Given the description of an element on the screen output the (x, y) to click on. 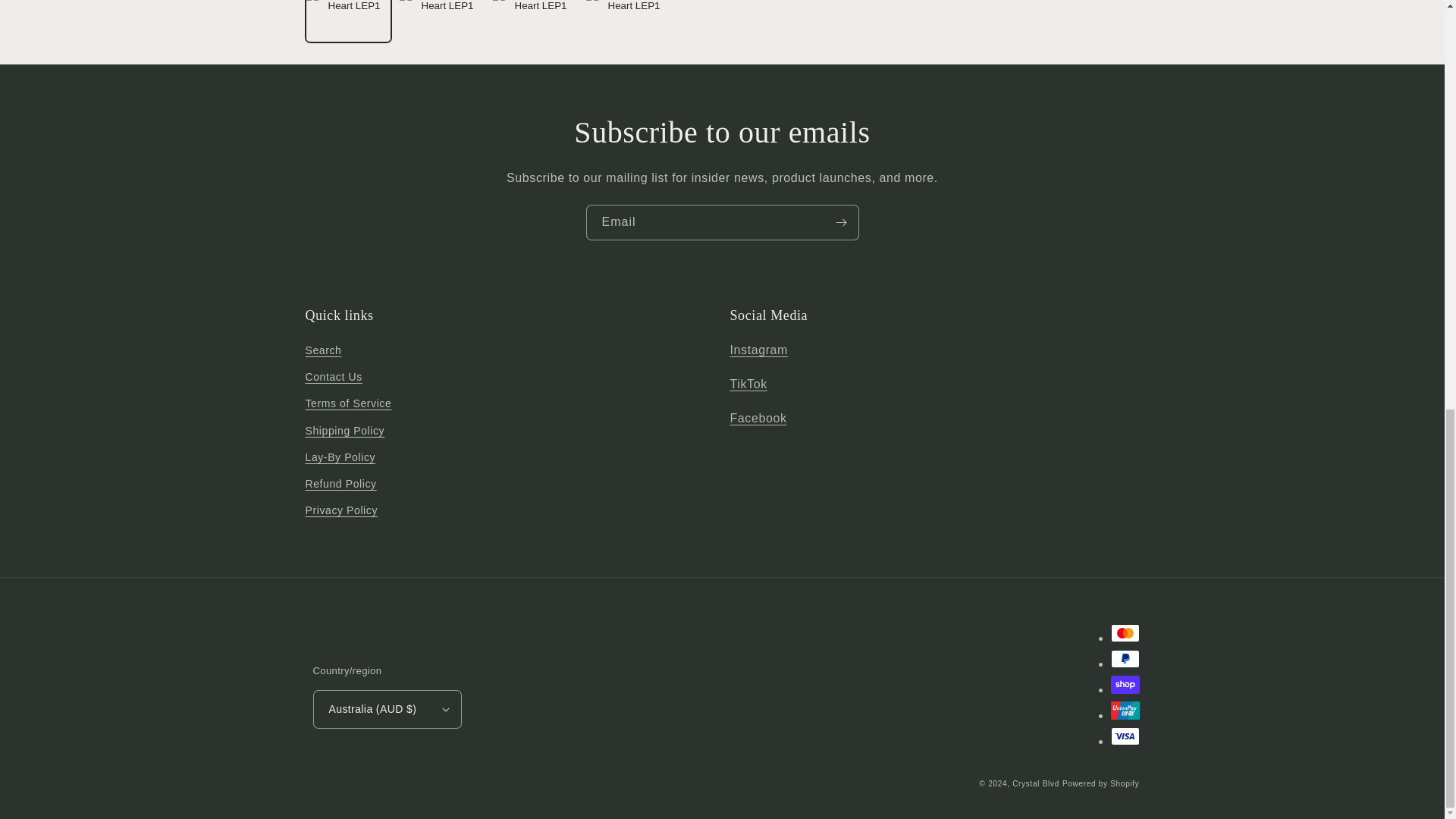
Crystal Blvd is on Instagram (758, 349)
Union Pay (1123, 710)
Shop Pay (1123, 684)
Crystal Blvd is on Facebook (757, 418)
Visa (1123, 736)
Crystal Blvd is on TikTok (748, 383)
Mastercard (1123, 633)
PayPal (1123, 659)
